Given the description of an element on the screen output the (x, y) to click on. 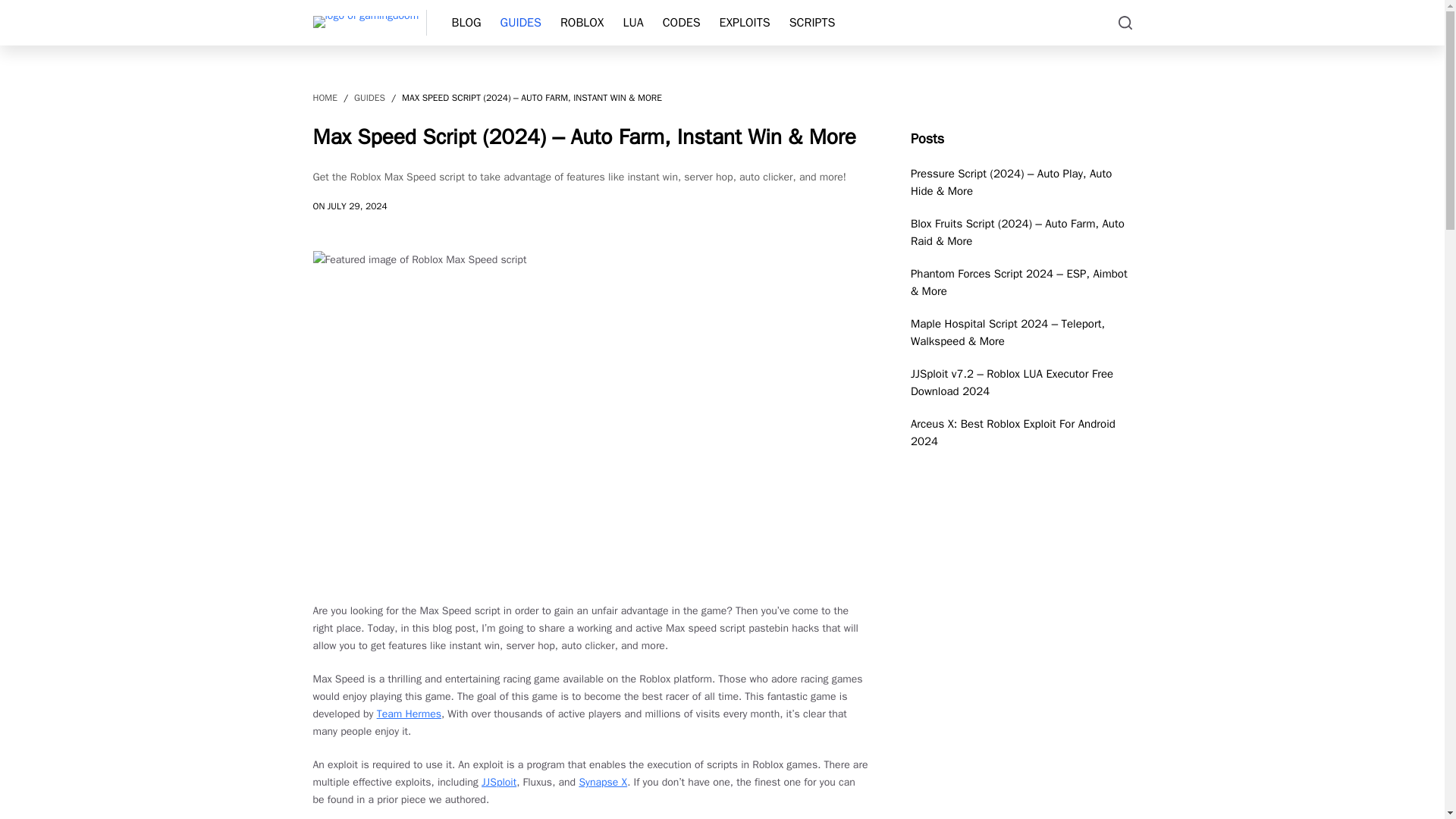
HOME (324, 98)
EXPLOITS (744, 22)
GUIDES (369, 98)
Synapse X (602, 781)
ROBLOX (581, 22)
Team Hermes (409, 713)
SCRIPTS (811, 22)
JJSploit (498, 781)
Skip to content (15, 7)
CODES (681, 22)
